Given the description of an element on the screen output the (x, y) to click on. 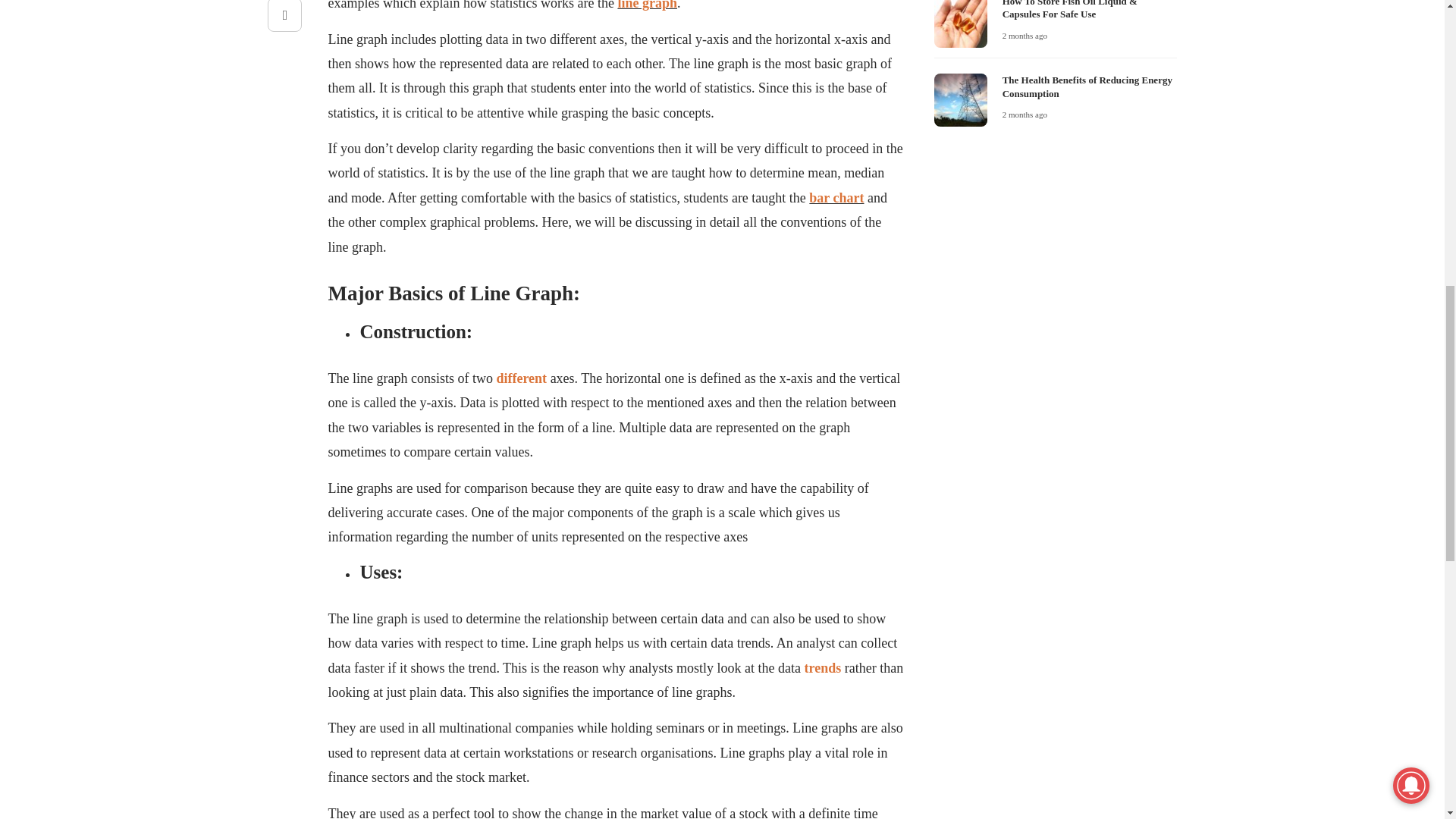
different (521, 378)
bar chart (836, 197)
trends (823, 667)
line graph (647, 5)
